Given the description of an element on the screen output the (x, y) to click on. 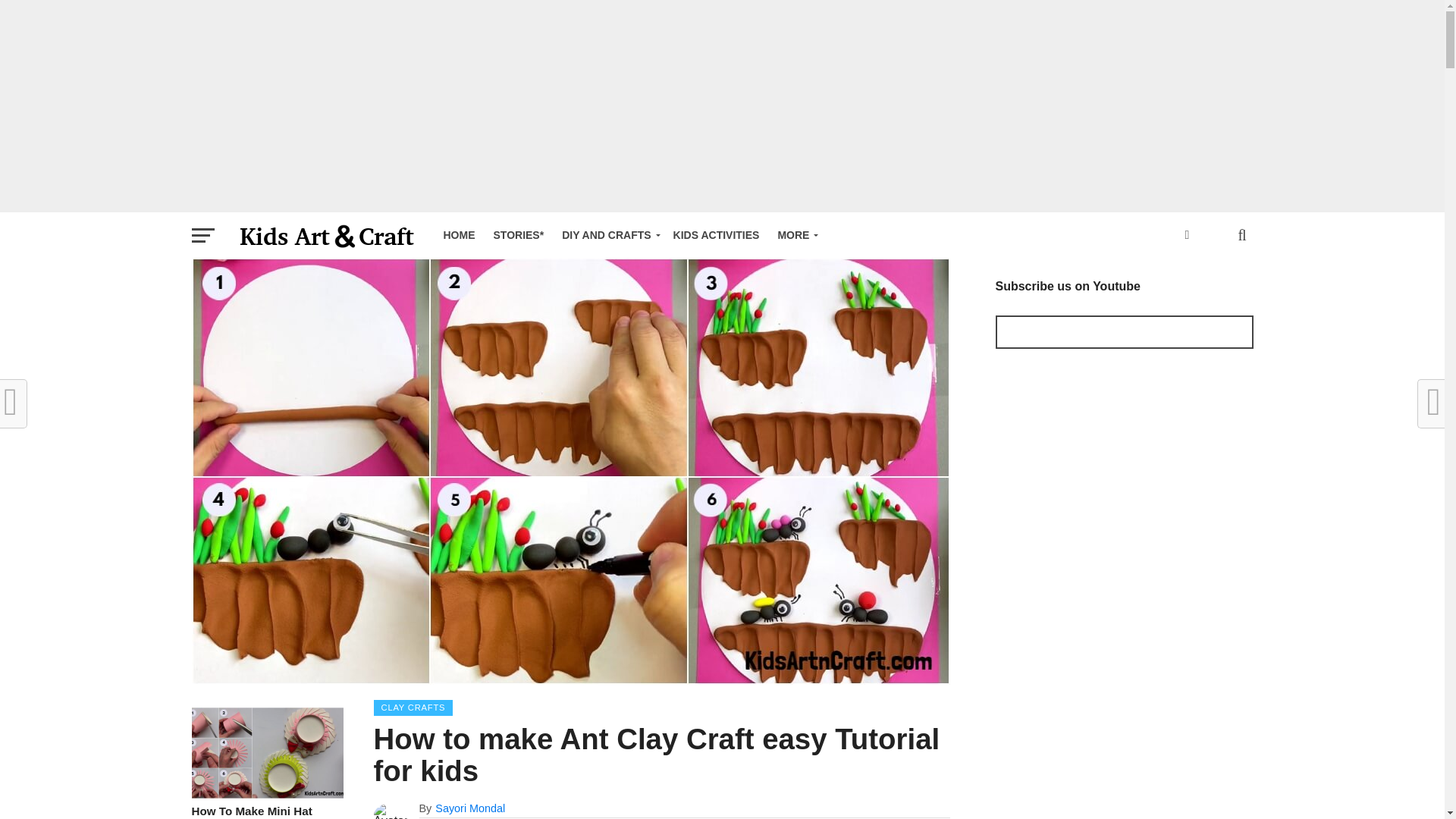
HOME (458, 234)
DIY AND CRAFTS (608, 234)
Posts by Sayori Mondal (470, 808)
KIDS ACTIVITIES (715, 234)
How To Make Mini Hat Using Paper Cup For Kids (266, 793)
MORE (795, 234)
